Given the description of an element on the screen output the (x, y) to click on. 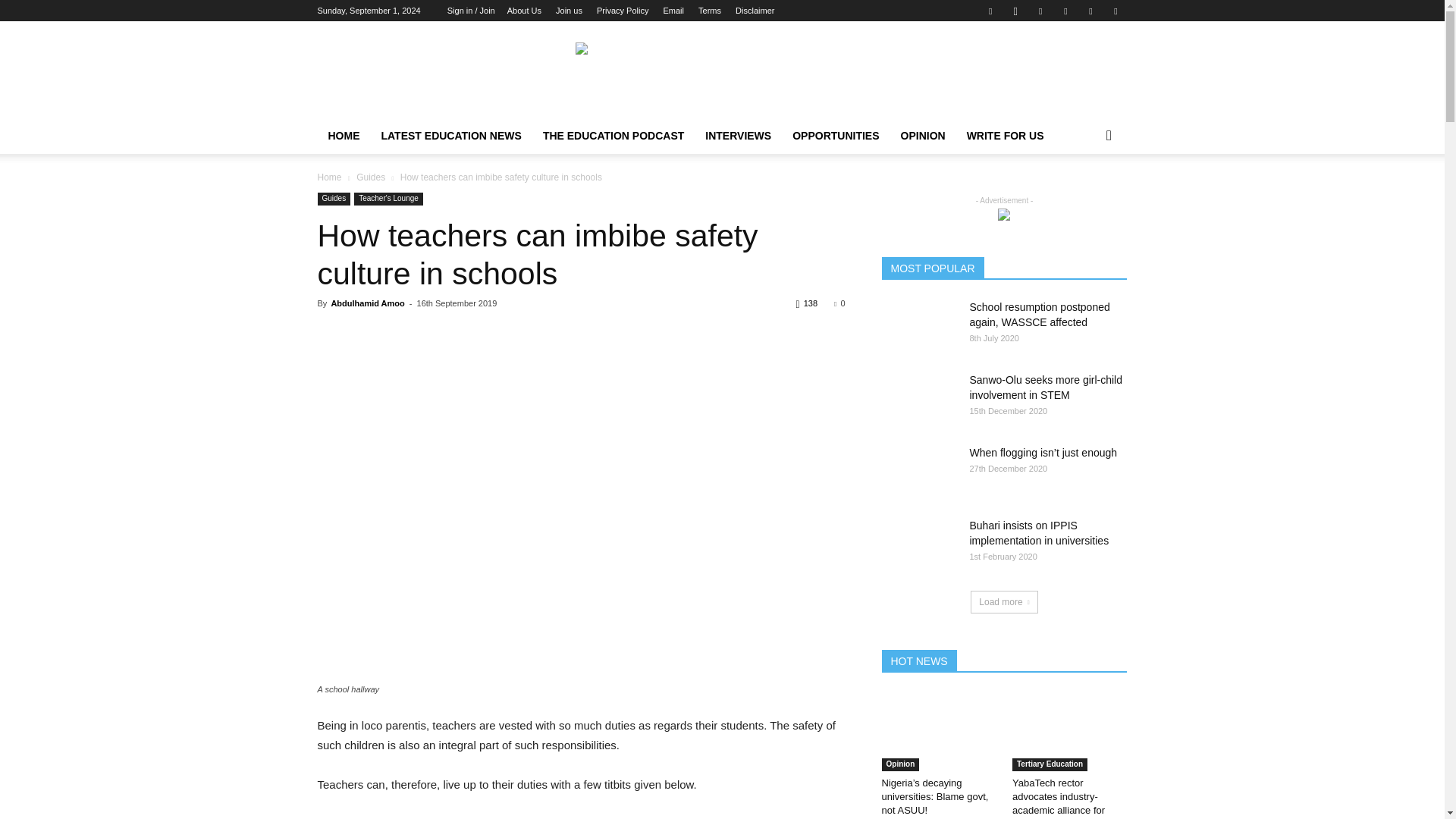
Youtube (1114, 10)
Facebook (989, 10)
Mail (1065, 10)
Twitter (1090, 10)
Terms (709, 10)
Disclaimer (754, 10)
Privacy Policy (621, 10)
Email (673, 10)
Join us (569, 10)
About Us (523, 10)
